Given the description of an element on the screen output the (x, y) to click on. 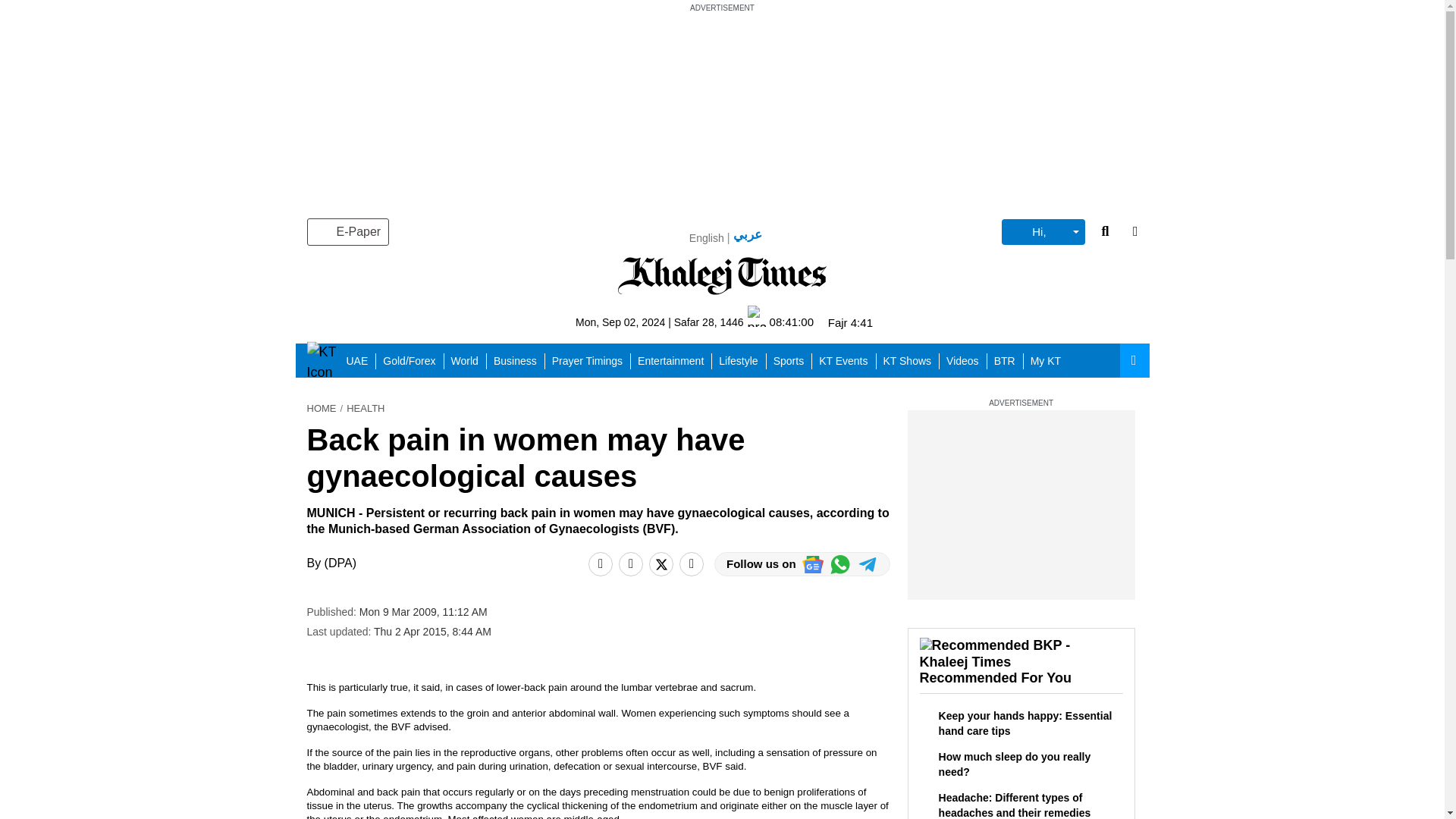
Hi, (1042, 232)
08:41:00 (780, 321)
E-Paper (346, 231)
Fajr 4:41 (850, 322)
